Given the description of an element on the screen output the (x, y) to click on. 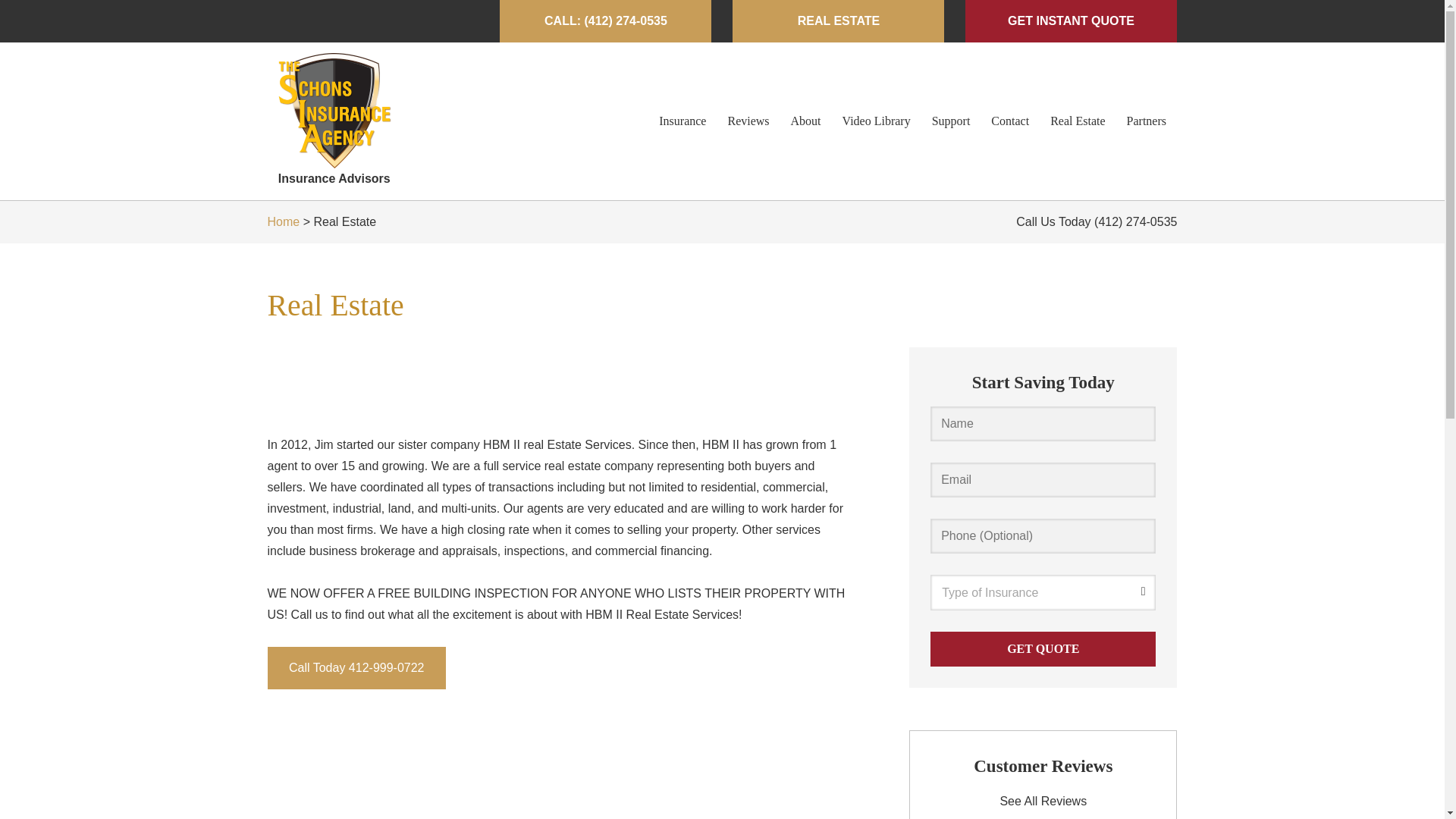
REAL ESTATE (837, 21)
Reviews (747, 120)
Get Quote (1043, 648)
About (805, 120)
GET INSTANT QUOTE (1070, 21)
Insurance (681, 120)
The Schons Agency (334, 110)
Home Page (333, 121)
